Given the description of an element on the screen output the (x, y) to click on. 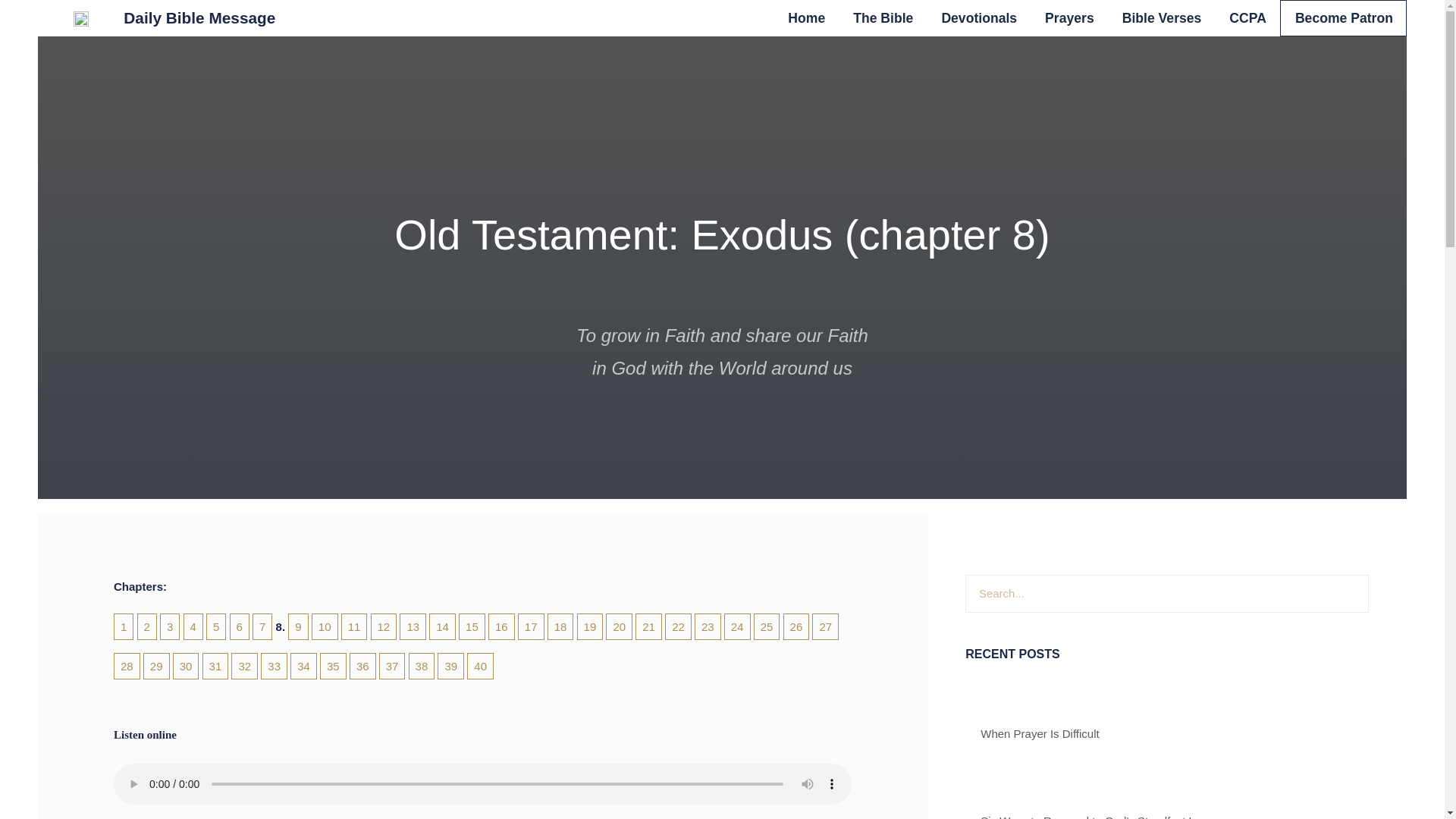
The Bible (883, 18)
Home (806, 18)
Devotionals (978, 18)
Search (1349, 593)
Become Patron (1344, 18)
CCPA (1247, 18)
Bible Verses (1161, 18)
Search (1148, 593)
Daily Bible Message (199, 17)
Prayers (1069, 18)
